Given the description of an element on the screen output the (x, y) to click on. 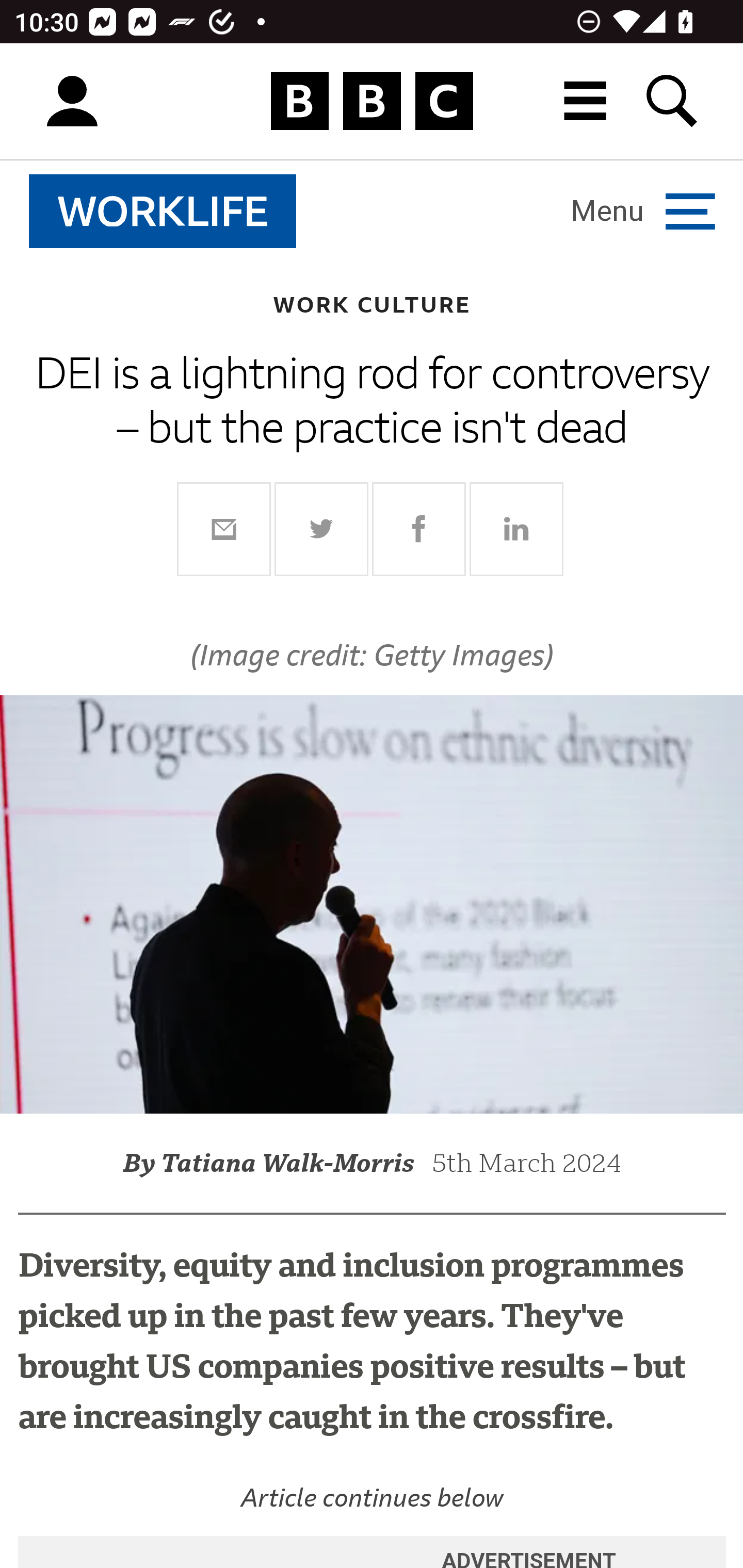
All BBC destinations menu (585, 100)
Search BBC (672, 100)
Sign in (71, 101)
Homepage (371, 101)
Open more navigation (643, 210)
worklife (162, 211)
WORK CULTURE (371, 304)
 Share using Email  Share using Email (223, 528)
 Share on Twitter  Share on Twitter (322, 528)
 Share on Facebook  Share on Facebook (418, 528)
 Share on Linkedin  Share on Linkedin (516, 528)
By Tatiana Walk-Morris (277, 1162)
